Given the description of an element on the screen output the (x, y) to click on. 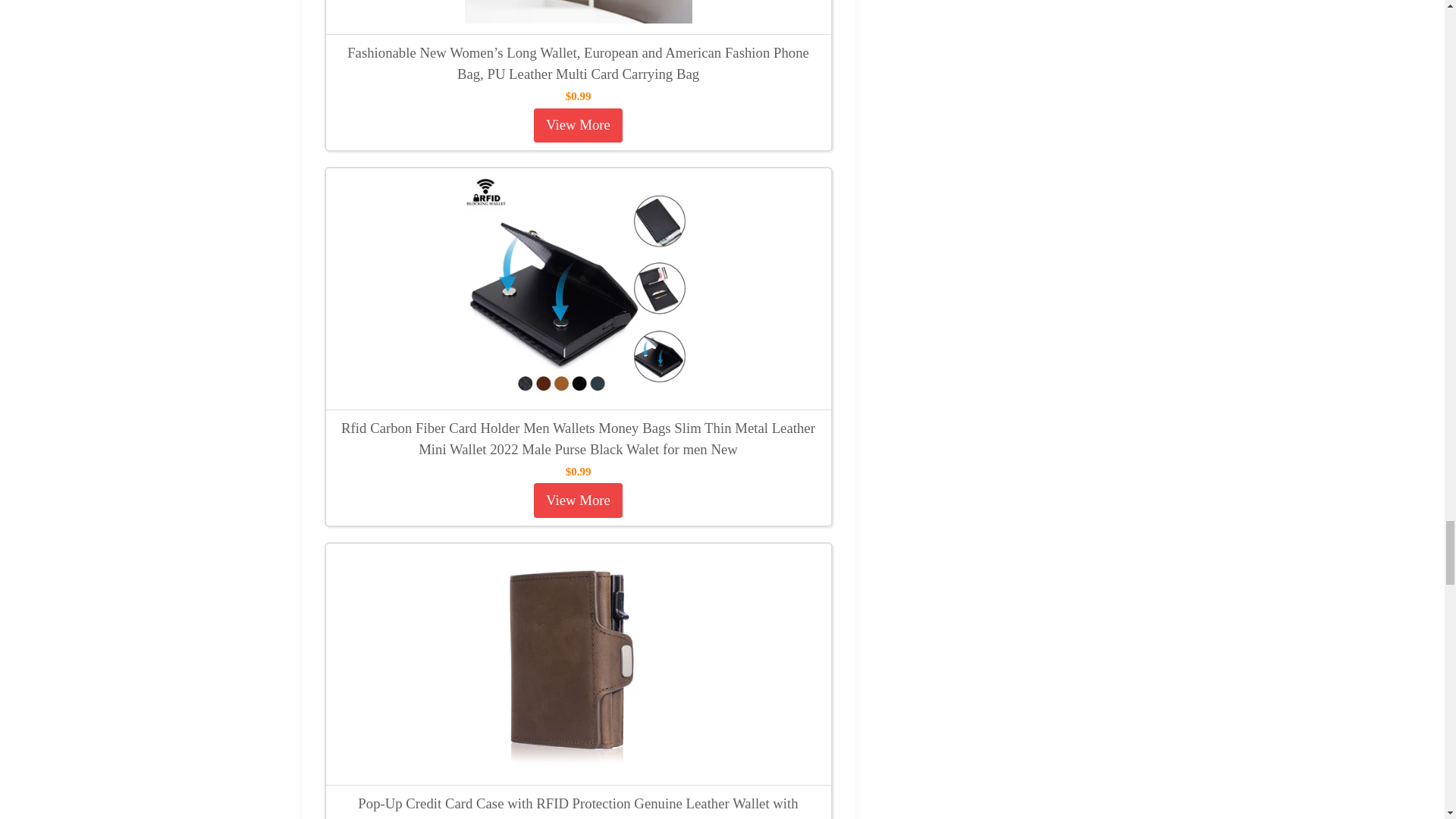
View More (578, 125)
View More (578, 499)
